Given the description of an element on the screen output the (x, y) to click on. 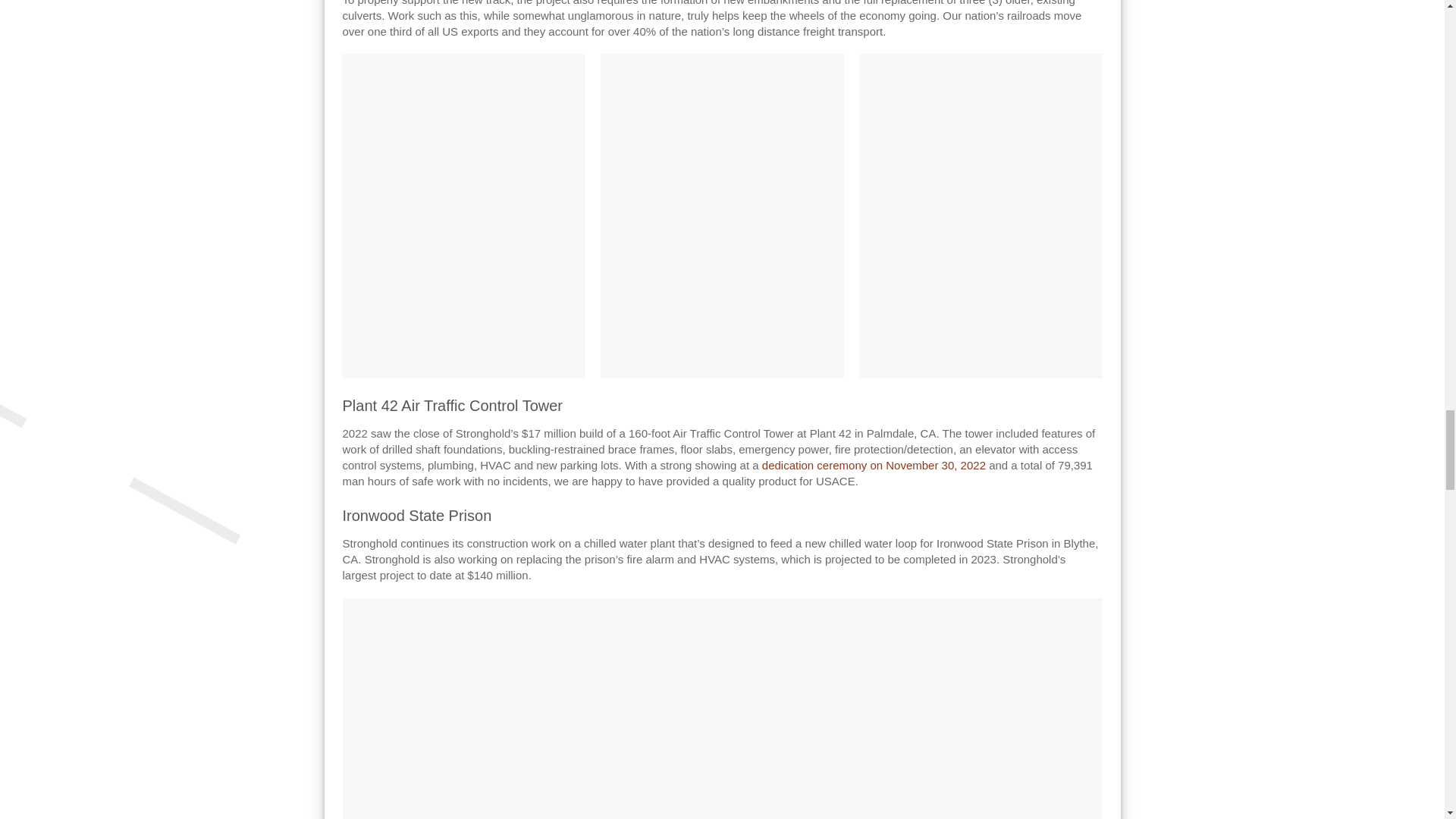
dedication ceremony on November 30, 2022 (873, 464)
